Given the description of an element on the screen output the (x, y) to click on. 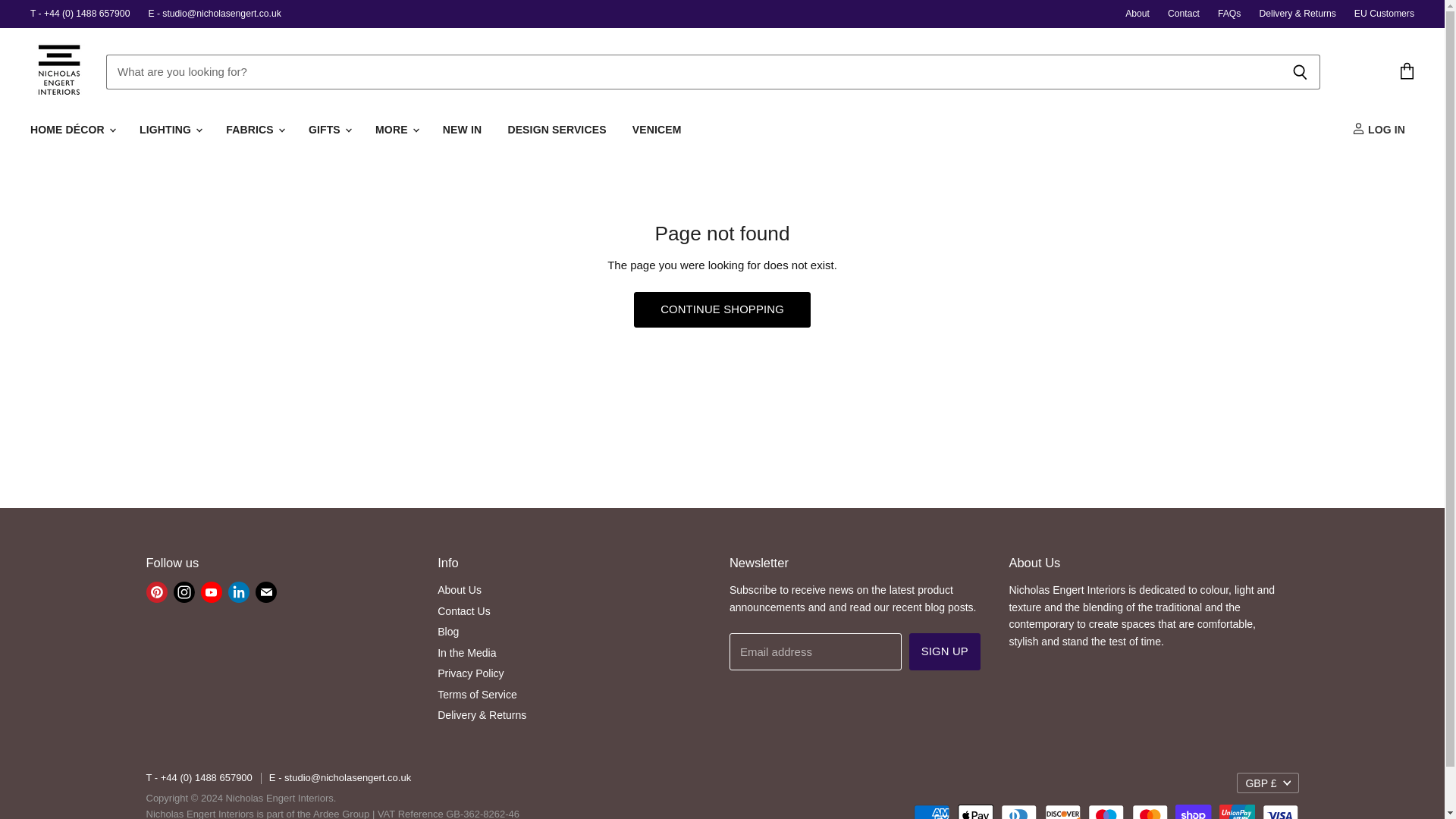
LinkedIn (237, 592)
Pinterest (156, 592)
E-mail (265, 592)
Youtube (210, 592)
About (1137, 13)
EU Customers (1383, 13)
Contact (1183, 13)
FAQs (1228, 13)
ACCOUNT ICON (1358, 128)
Instagram (183, 592)
